Given the description of an element on the screen output the (x, y) to click on. 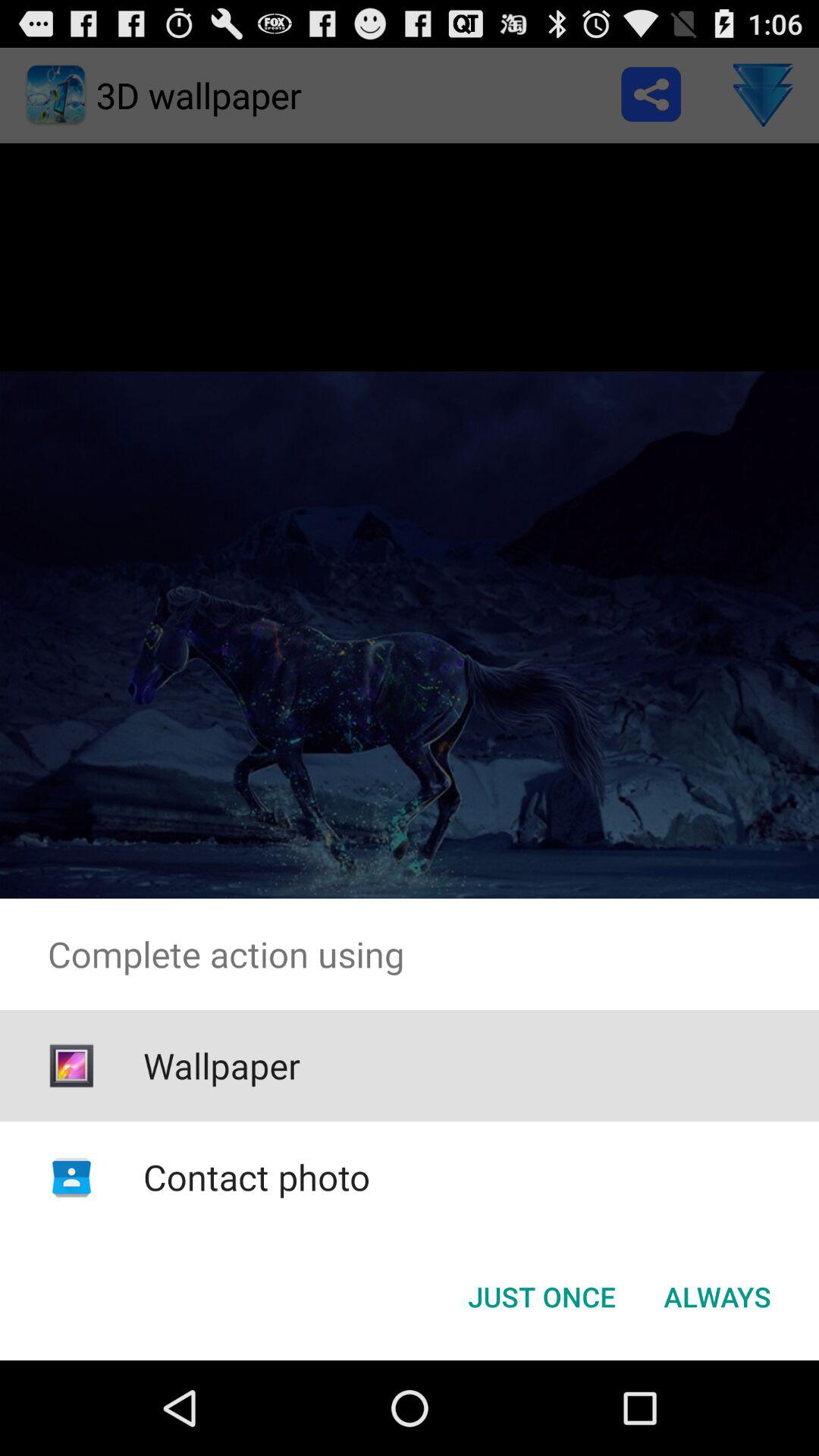
select button next to just once button (717, 1296)
